Given the description of an element on the screen output the (x, y) to click on. 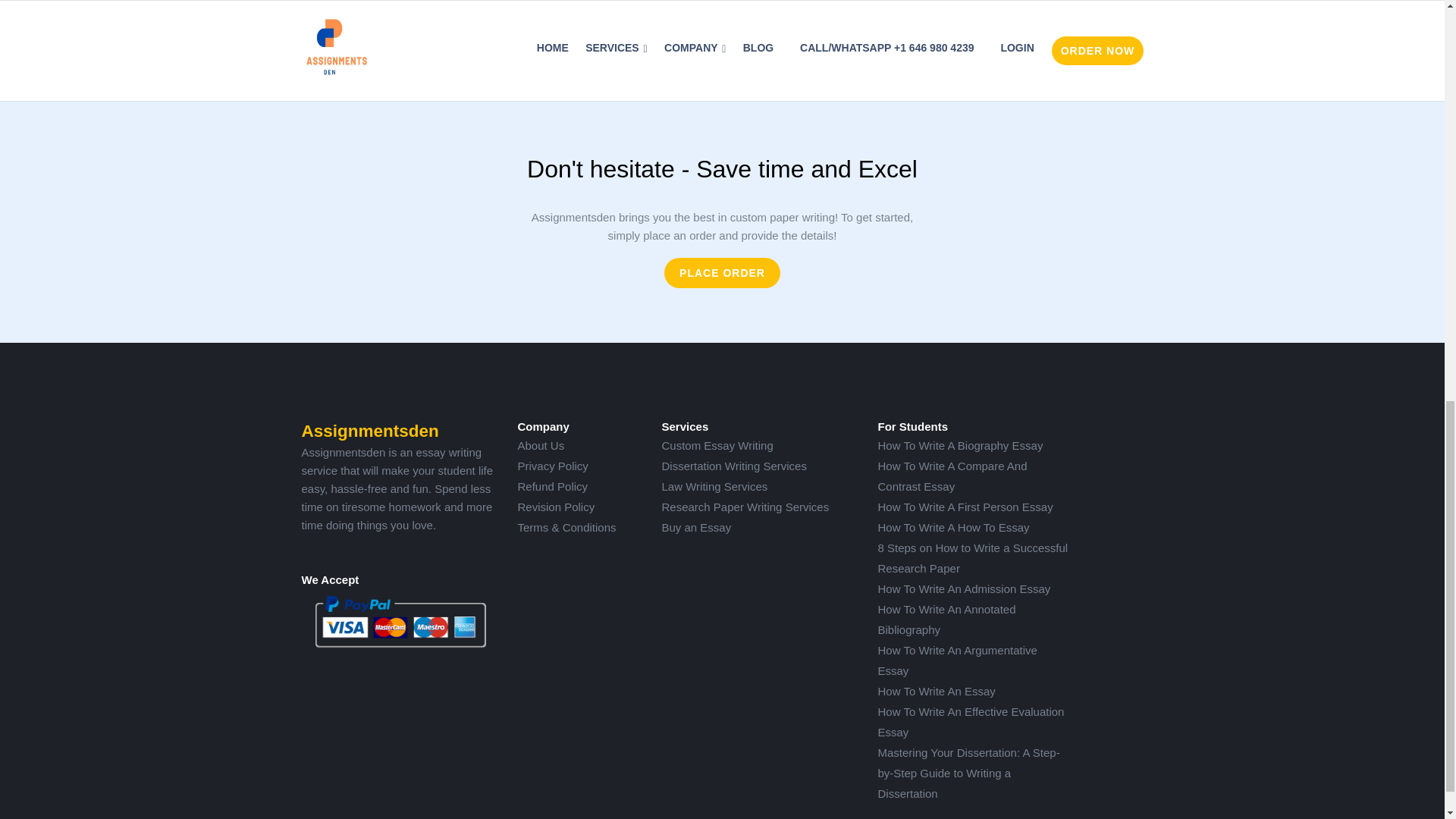
Privacy Policy (552, 465)
Revision Policy (555, 506)
PLACE ORDER (721, 272)
Assignmentsden (370, 430)
Research Paper Writing Services (744, 506)
Dissertation Writing Services (733, 465)
Refund Policy (552, 486)
Law Writing Services (714, 486)
About Us (540, 445)
Custom Essay Writing (717, 445)
